Given the description of an element on the screen output the (x, y) to click on. 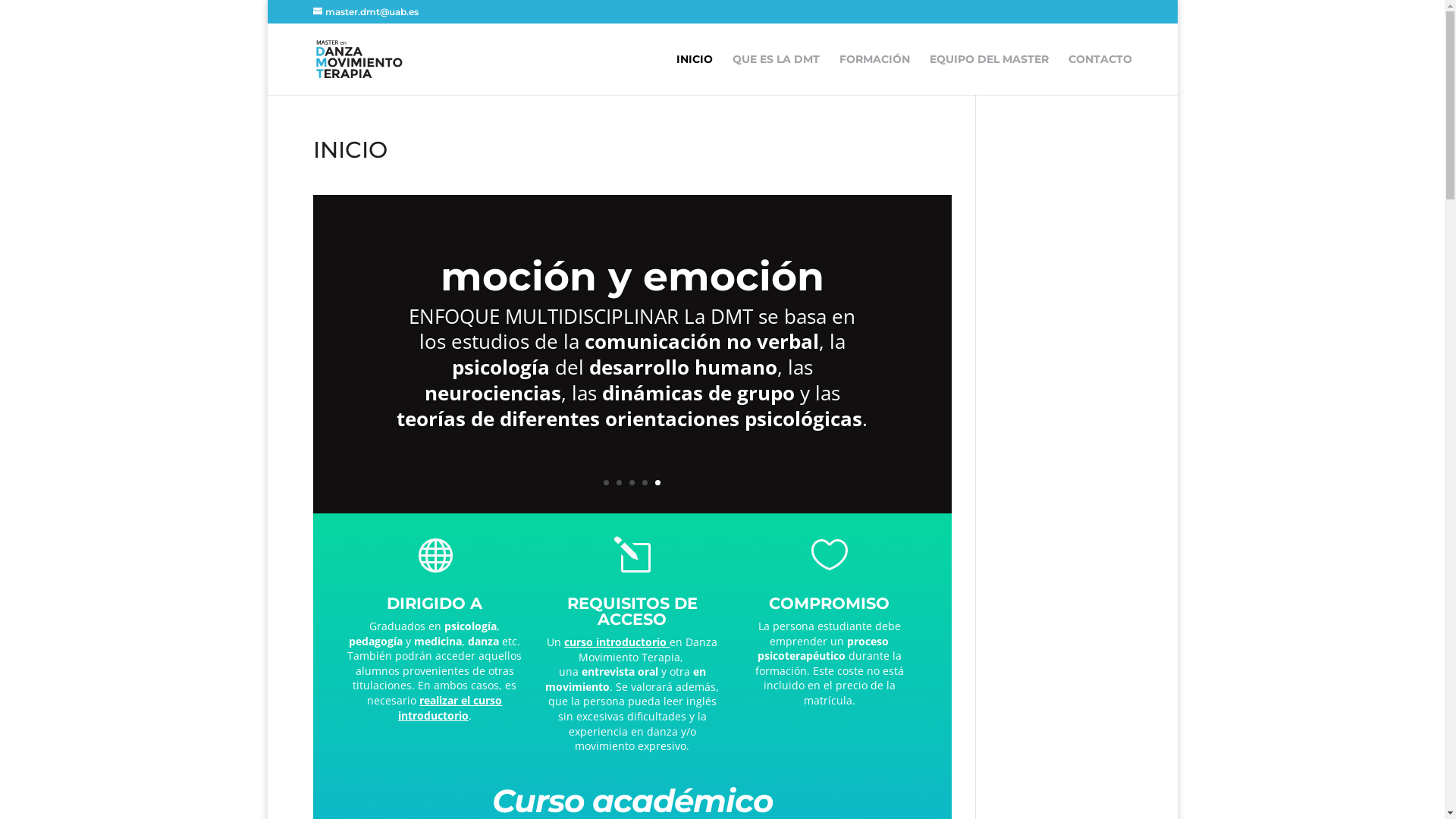
realizar el curso introductorio Element type: text (450, 707)
curso introductorio Element type: text (616, 641)
1 Element type: text (605, 482)
3 Element type: text (631, 482)
QUE ES LA DMT Element type: text (775, 73)
EQUIPO DEL MASTER Element type: text (988, 73)
5 Element type: text (657, 482)
4 Element type: text (644, 482)
2 Element type: text (618, 482)
INICIO Element type: text (694, 73)
CONTACTO Element type: text (1099, 73)
master.dmt@uab.es Element type: text (364, 11)
